Given the description of an element on the screen output the (x, y) to click on. 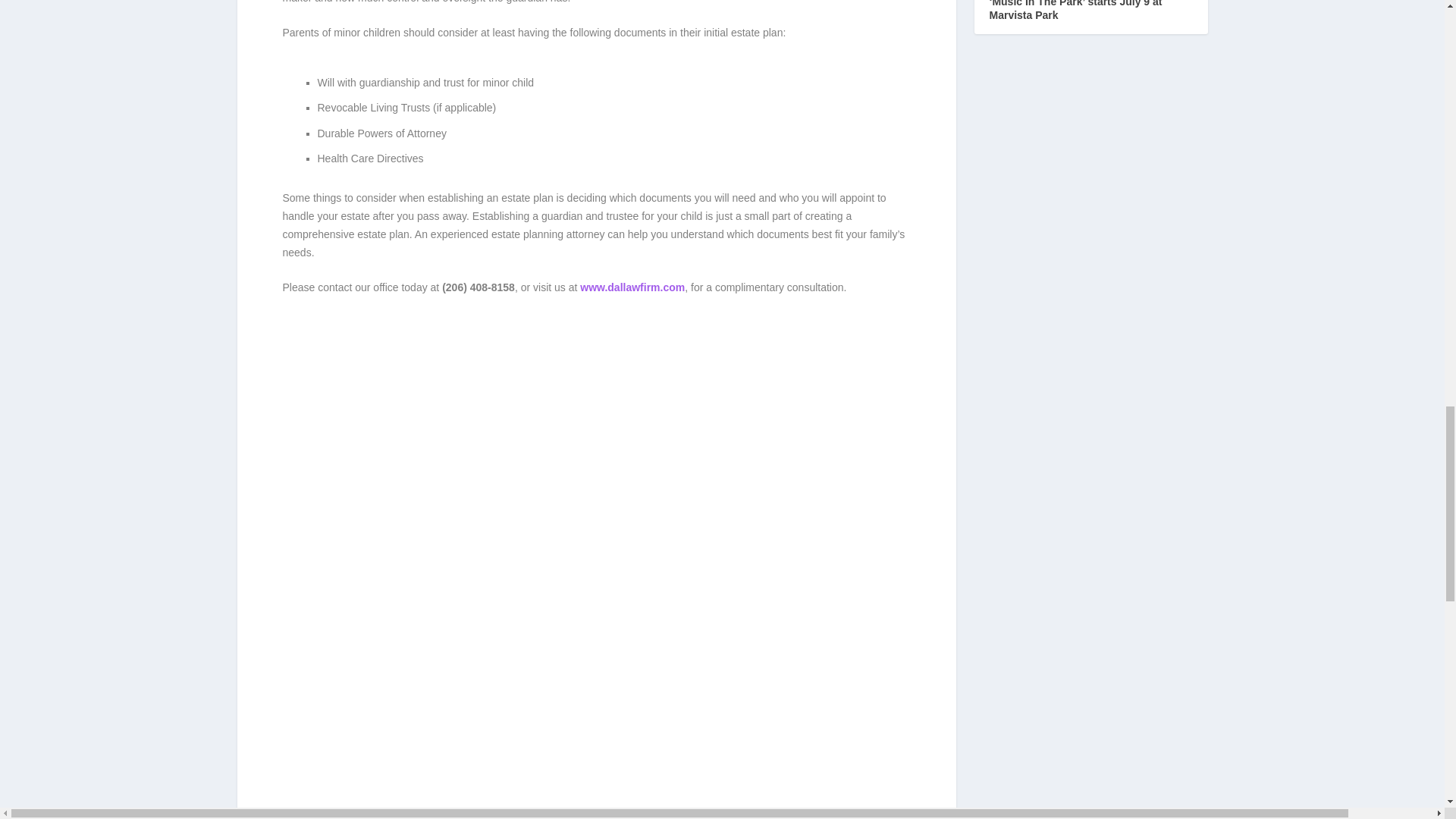
www.dallawfirm.com (631, 287)
